Given the description of an element on the screen output the (x, y) to click on. 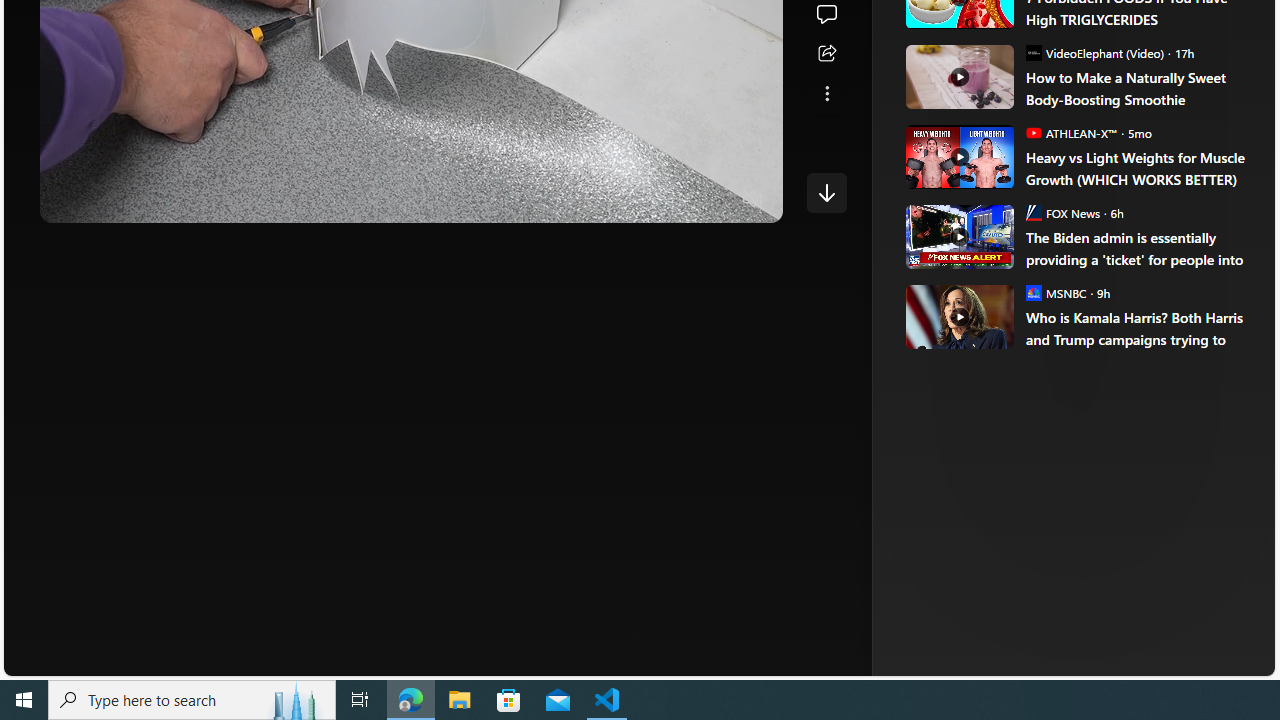
Class: control (826, 192)
Pause (69, 200)
Captions (675, 200)
